Given the description of an element on the screen output the (x, y) to click on. 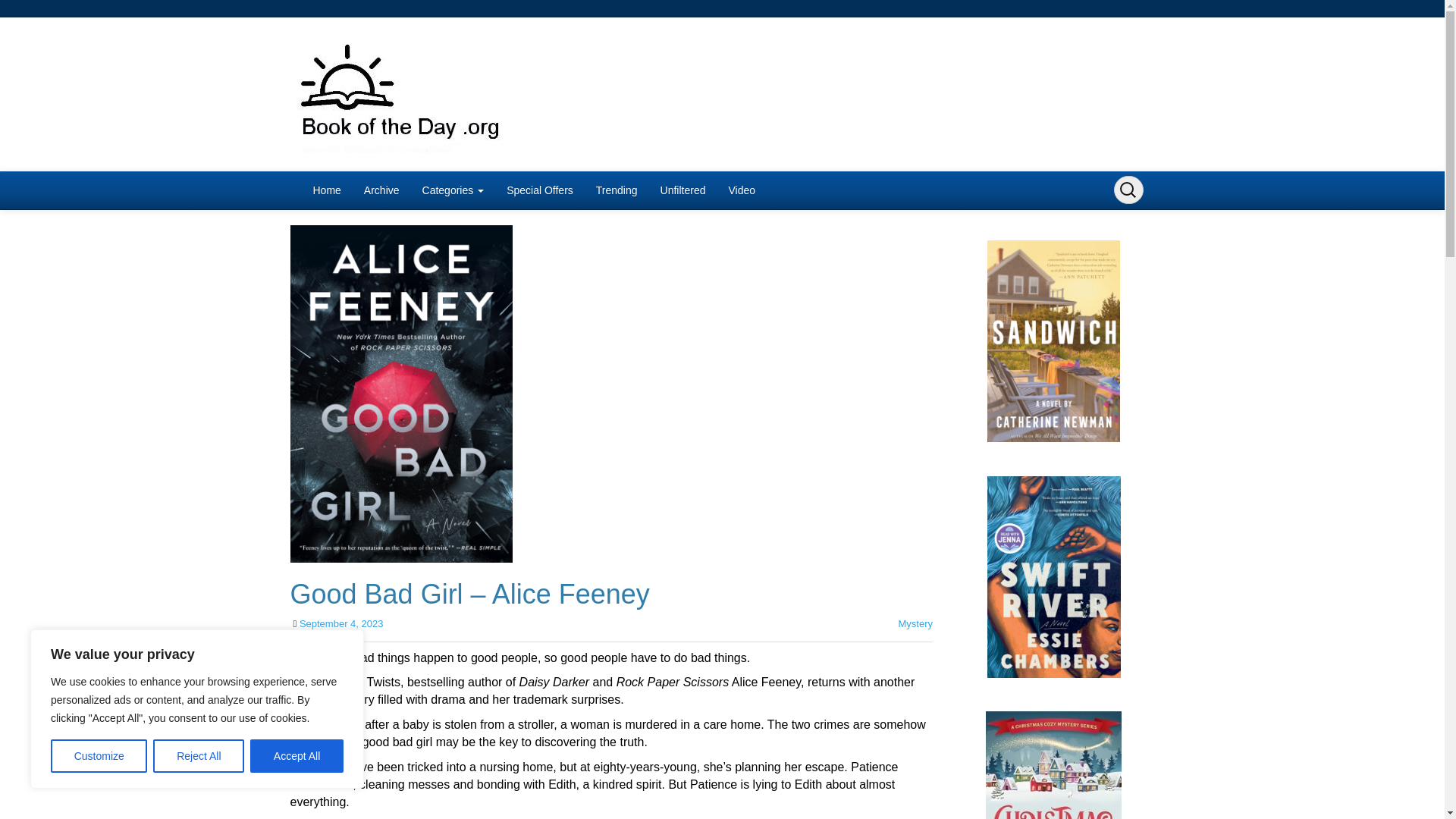
Home (326, 190)
Customize (98, 756)
Accept All (296, 756)
Archive (381, 190)
Reject All (198, 756)
12:05 am (341, 623)
Categories (453, 190)
